Given the description of an element on the screen output the (x, y) to click on. 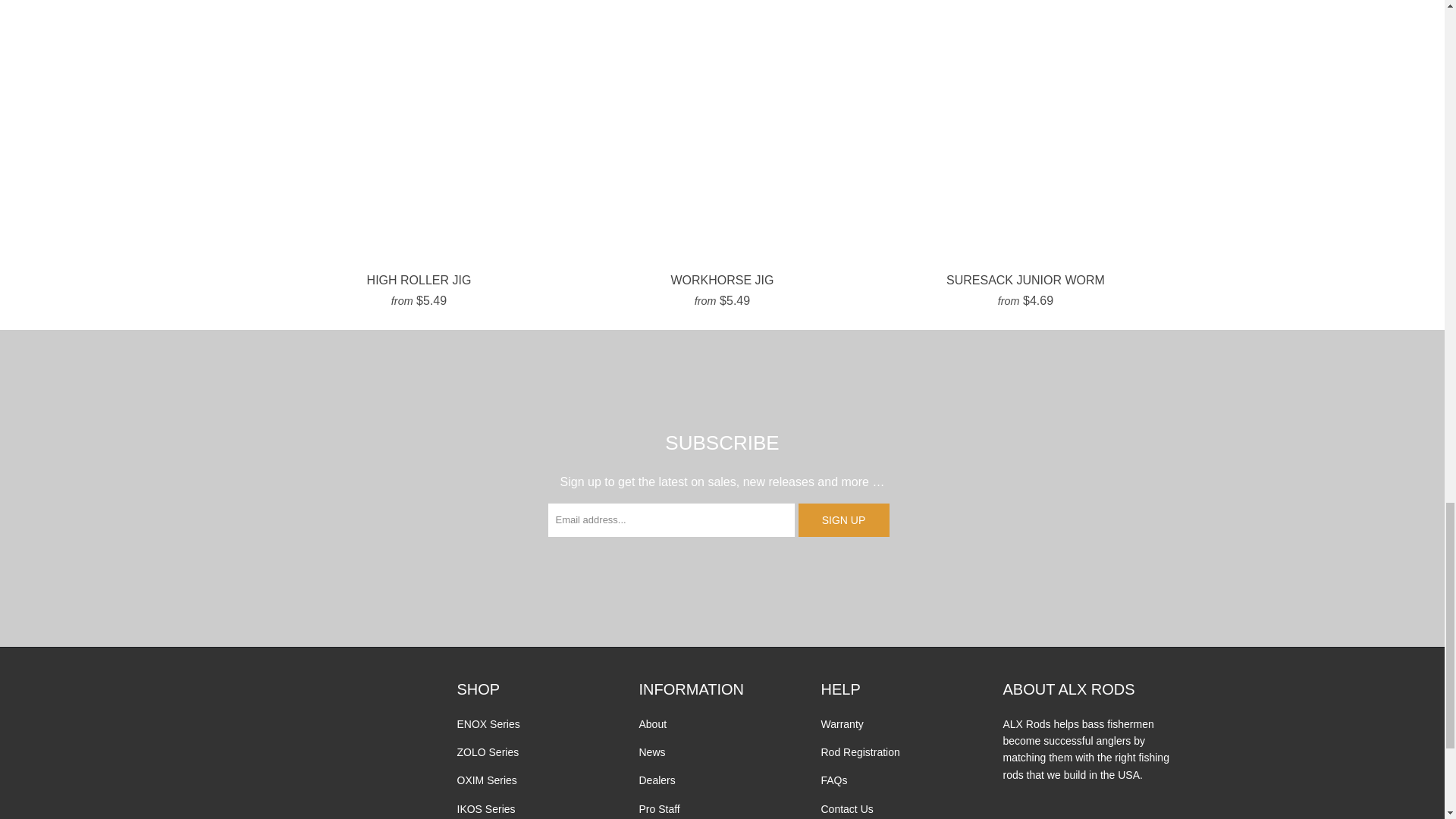
Sign Up (842, 520)
